Given the description of an element on the screen output the (x, y) to click on. 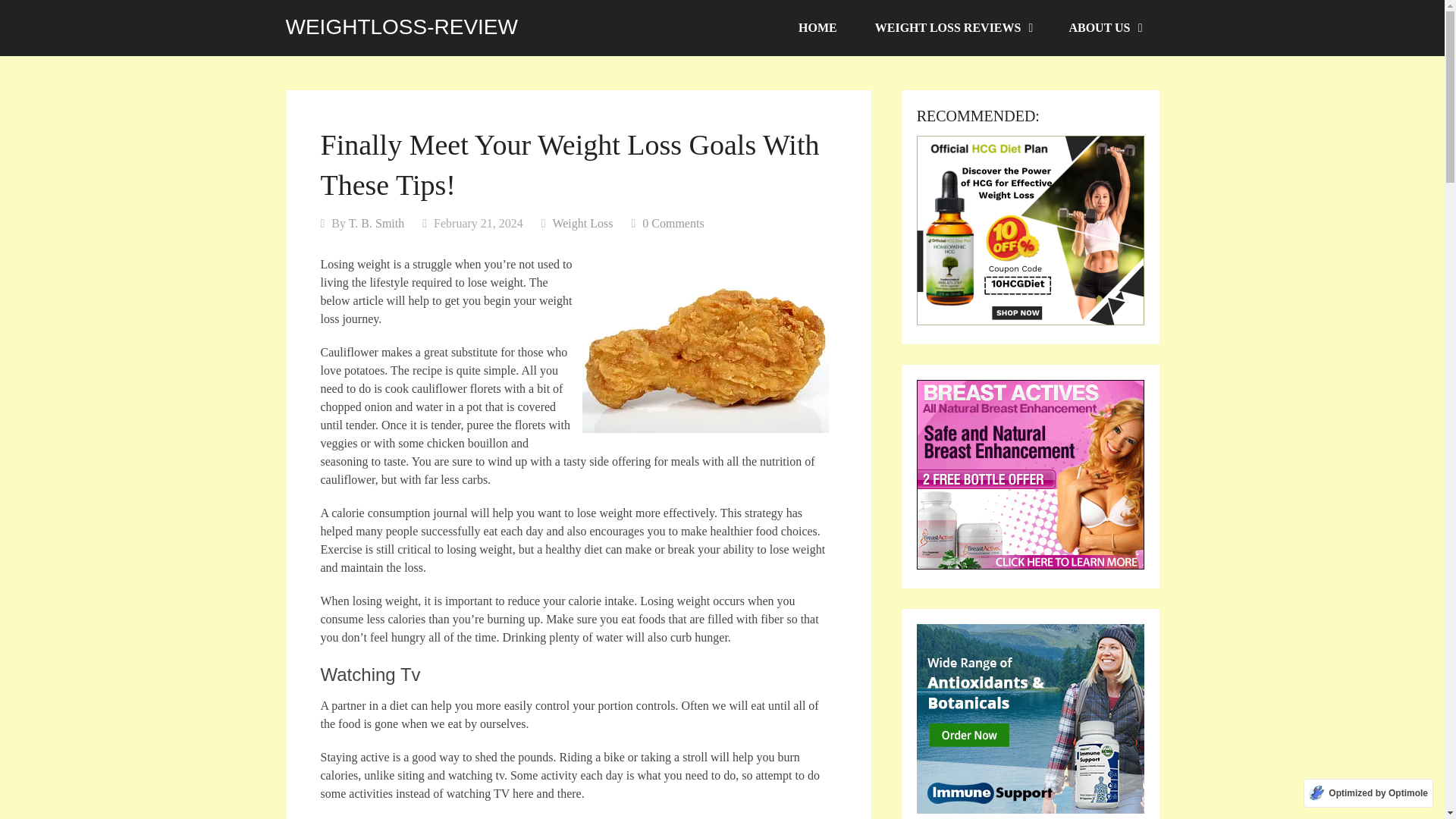
HOME (817, 28)
Weight Loss (581, 223)
T. B. Smith (376, 223)
WEIGHTLOSS-REVIEW (400, 26)
ABOUT US (1103, 28)
0 Comments (672, 223)
Finally Meet Your Weight Loss Goals With These Tips! (705, 347)
Posts by T. B. Smith (376, 223)
WEIGHT LOSS REVIEWS (952, 28)
